Given the description of an element on the screen output the (x, y) to click on. 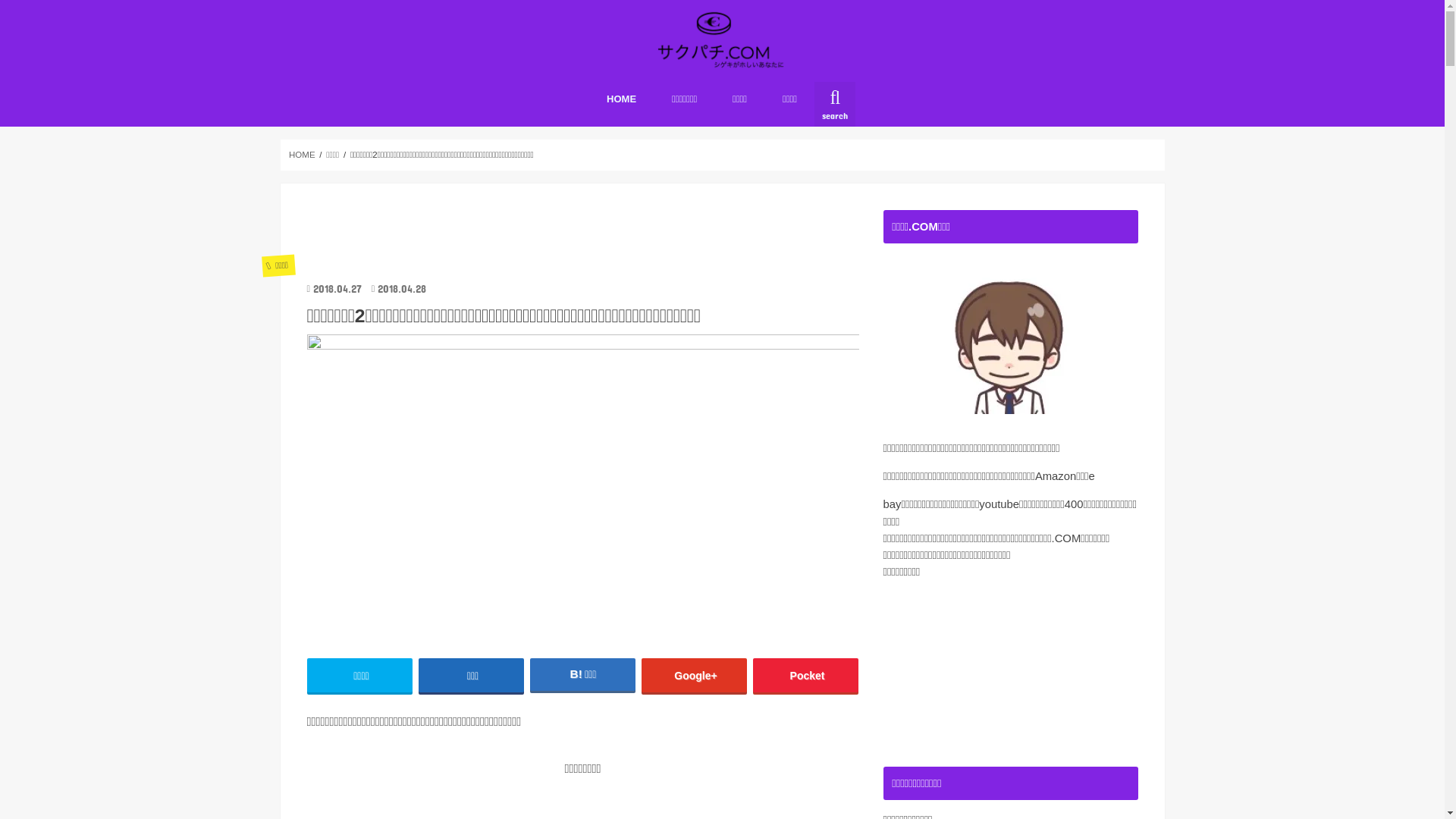
search Element type: text (834, 103)
Google+ Element type: text (694, 675)
Pocket Element type: text (806, 675)
HOME Element type: text (301, 154)
HOME Element type: text (621, 98)
